Given the description of an element on the screen output the (x, y) to click on. 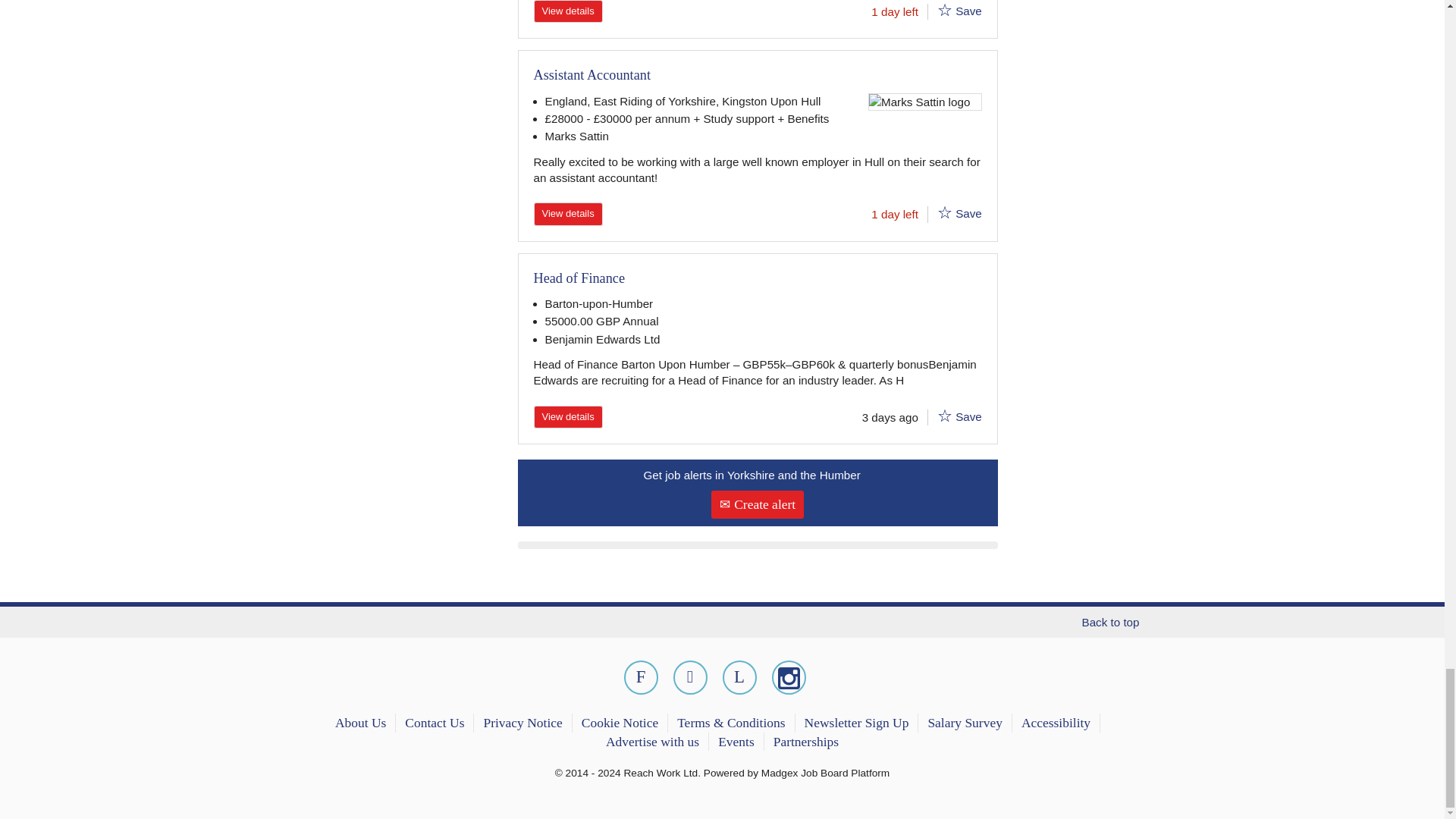
Back to top (721, 621)
